Given the description of an element on the screen output the (x, y) to click on. 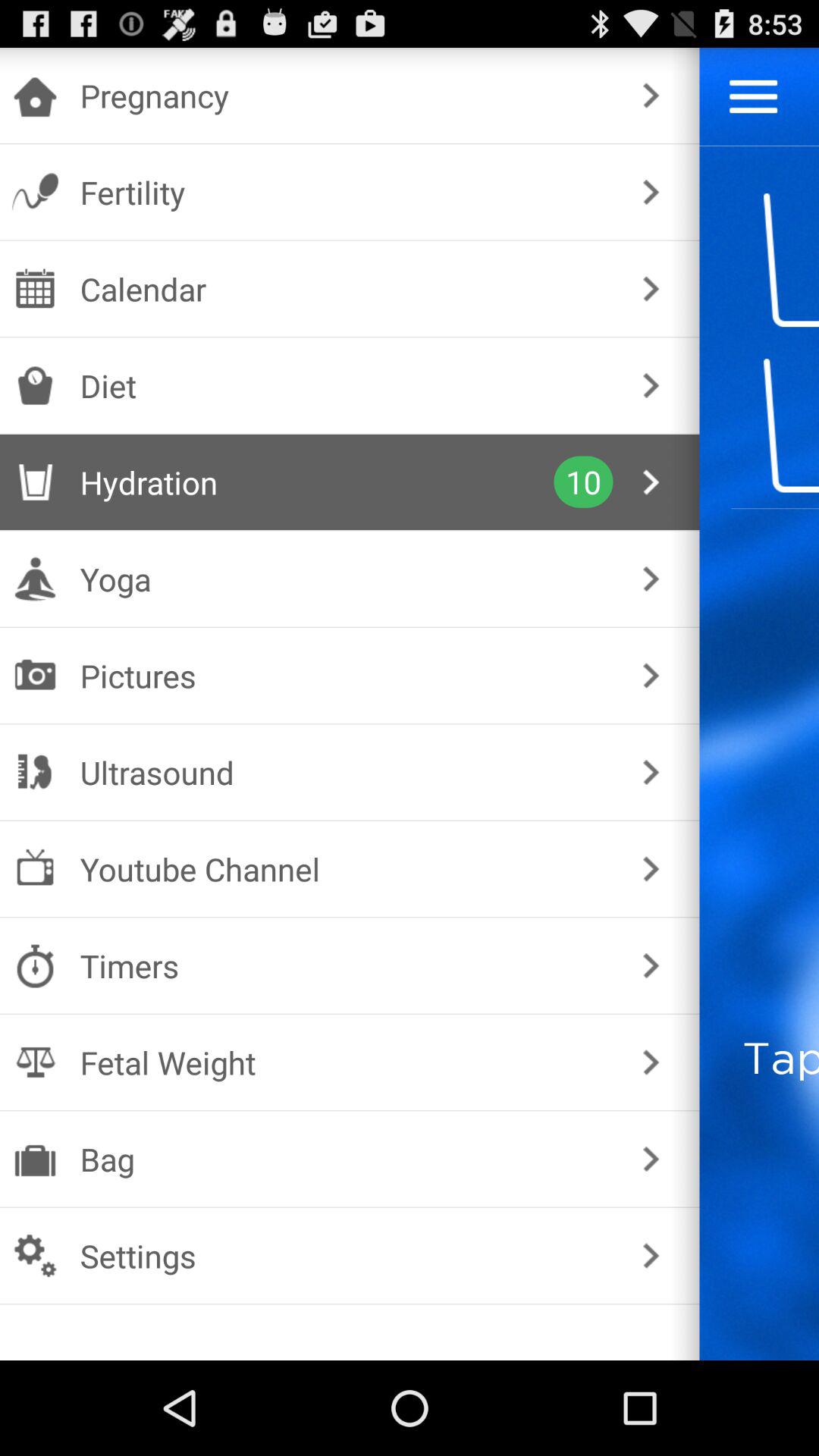
scroll to the yoga (346, 578)
